Given the description of an element on the screen output the (x, y) to click on. 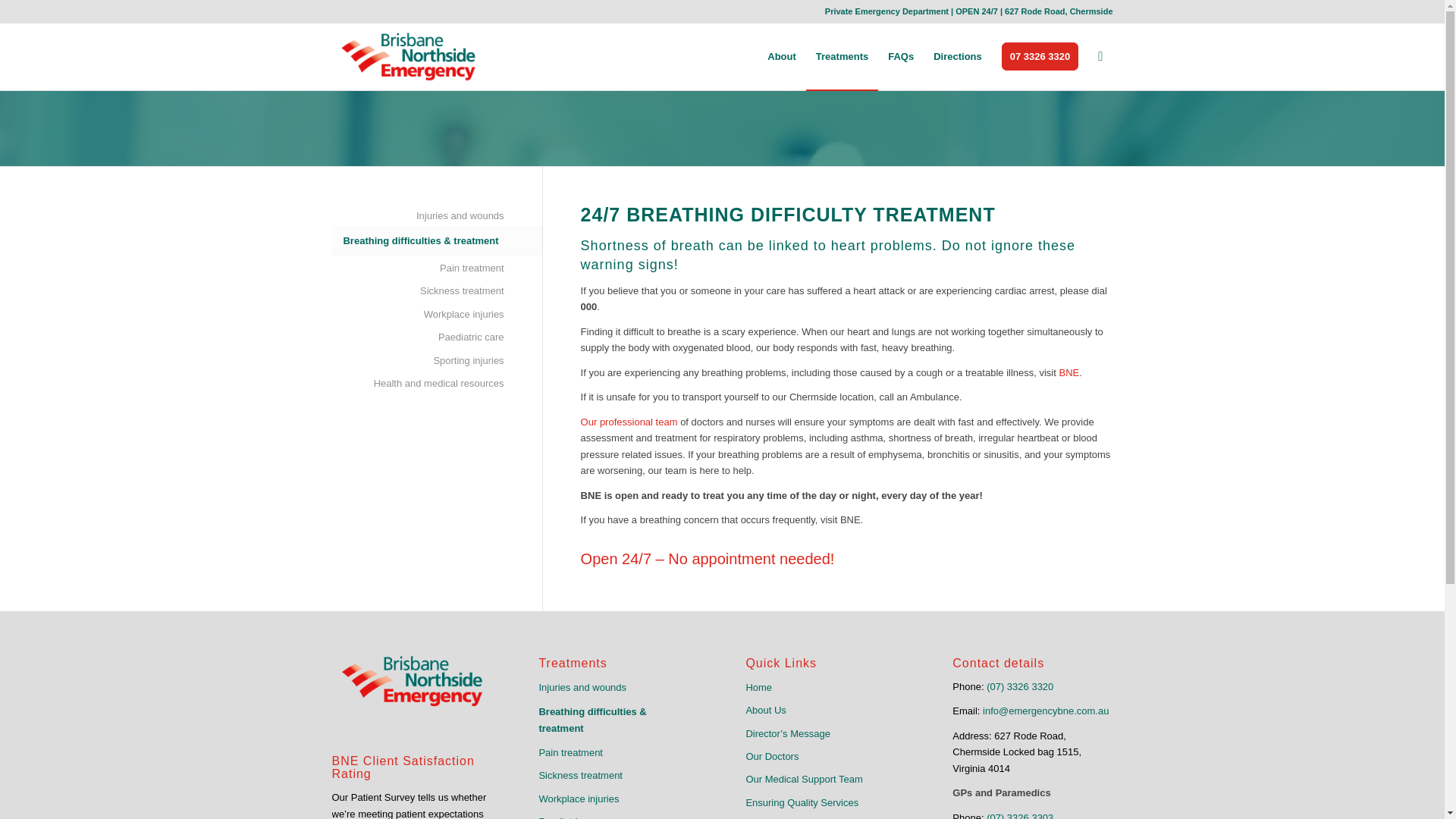
Pain treatment (417, 268)
Directions (957, 56)
BNE (1068, 372)
Injuries and wounds (417, 215)
Sickness treatment (417, 291)
627 Rode Road, Chermside (1058, 10)
07 3326 3320 (1040, 56)
Injuries and wounds (618, 687)
Paediatric care (417, 336)
Pain treatment (618, 753)
